Given the description of an element on the screen output the (x, y) to click on. 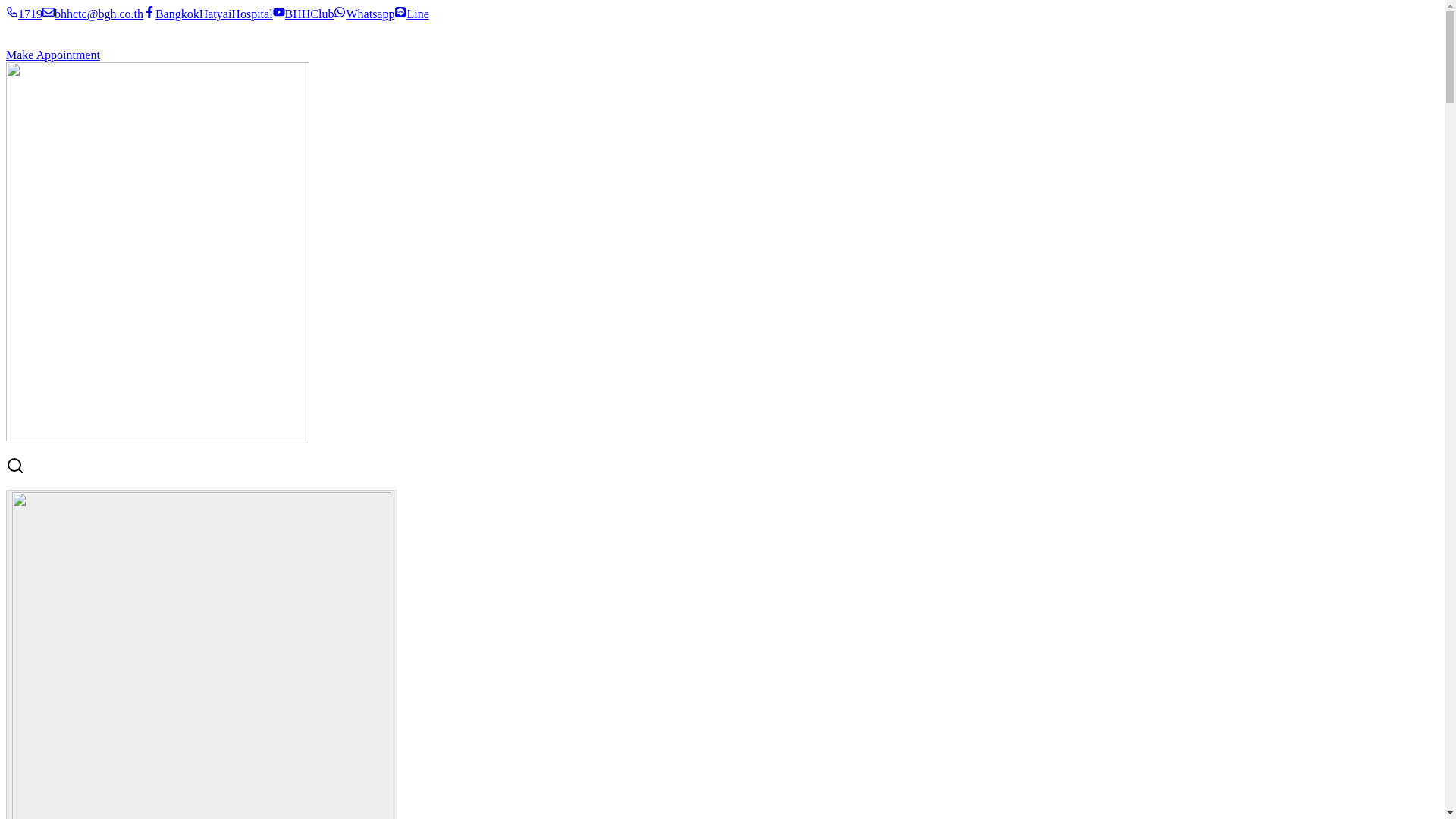
BangkokHatyaiHospital (207, 13)
BHHClub (303, 13)
Make Appointment (52, 54)
1719 (23, 13)
Whatsapp (363, 13)
Line (411, 13)
